Given the description of an element on the screen output the (x, y) to click on. 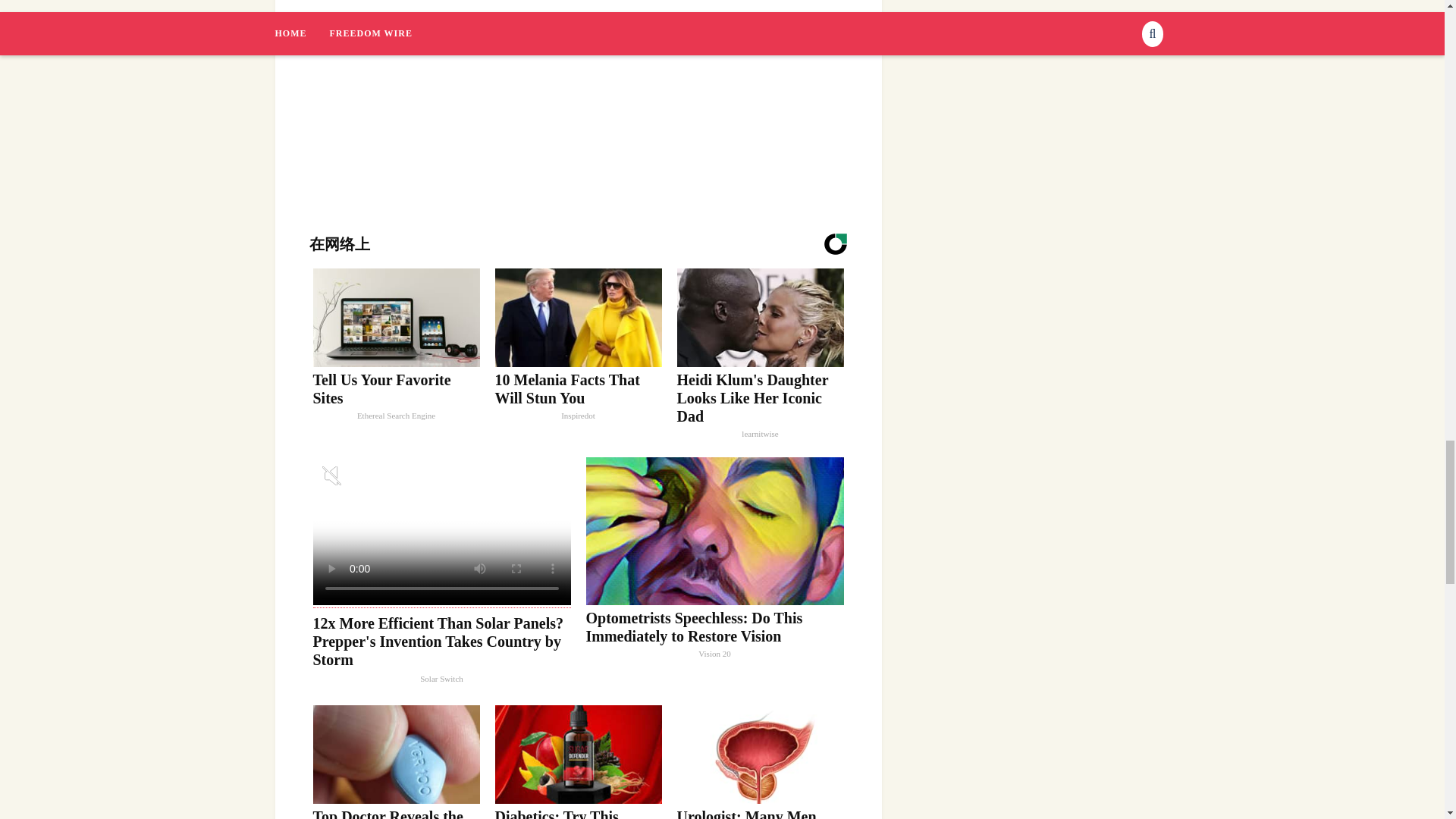
3rd party ad content (578, 87)
